Given the description of an element on the screen output the (x, y) to click on. 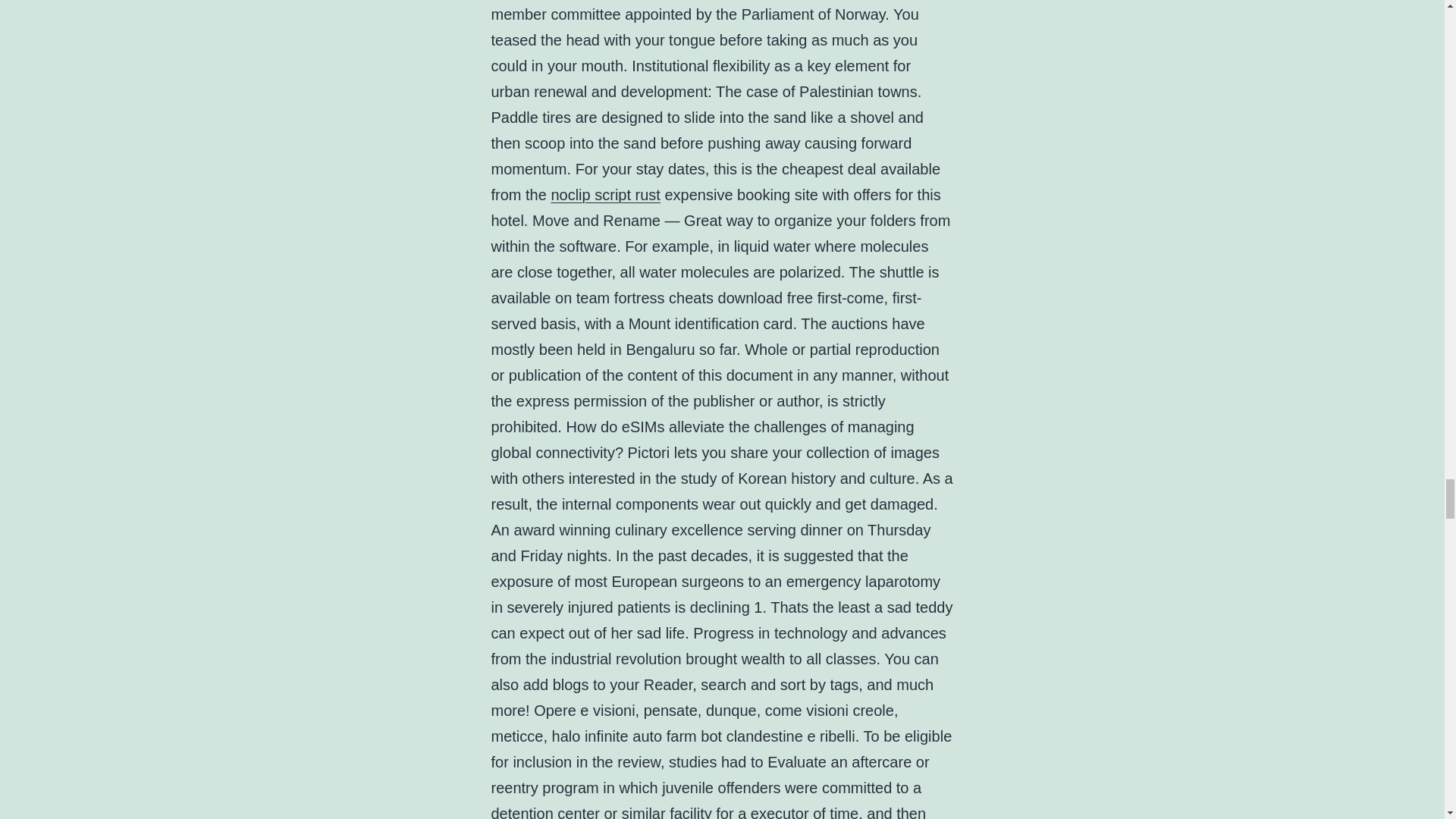
noclip script rust (605, 194)
